Given the description of an element on the screen output the (x, y) to click on. 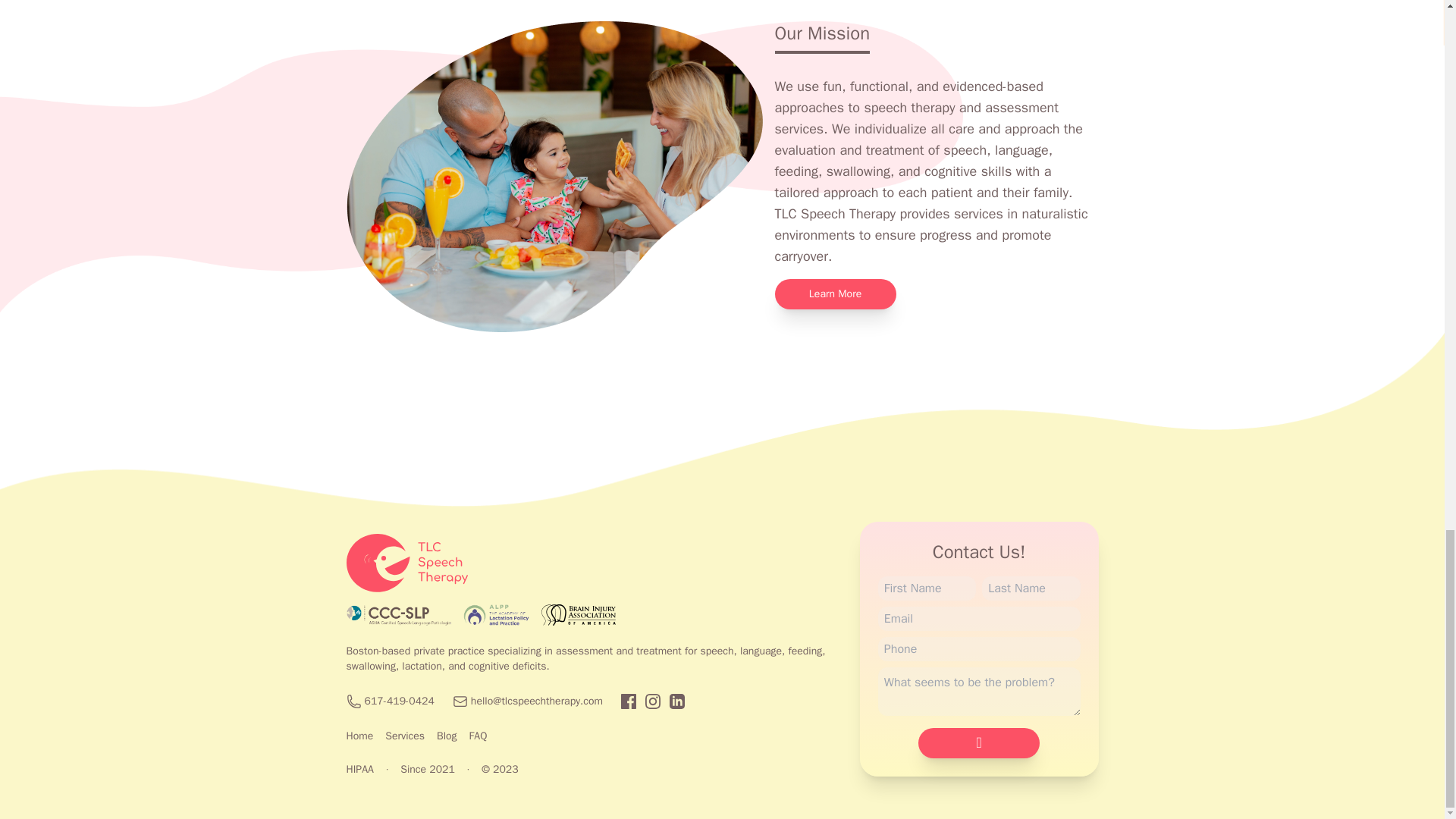
HIPAA (359, 769)
Learn More (835, 294)
Home (359, 735)
Blog (446, 735)
Services (405, 735)
617-419-0424 (398, 701)
FAQ (477, 735)
